Given the description of an element on the screen output the (x, y) to click on. 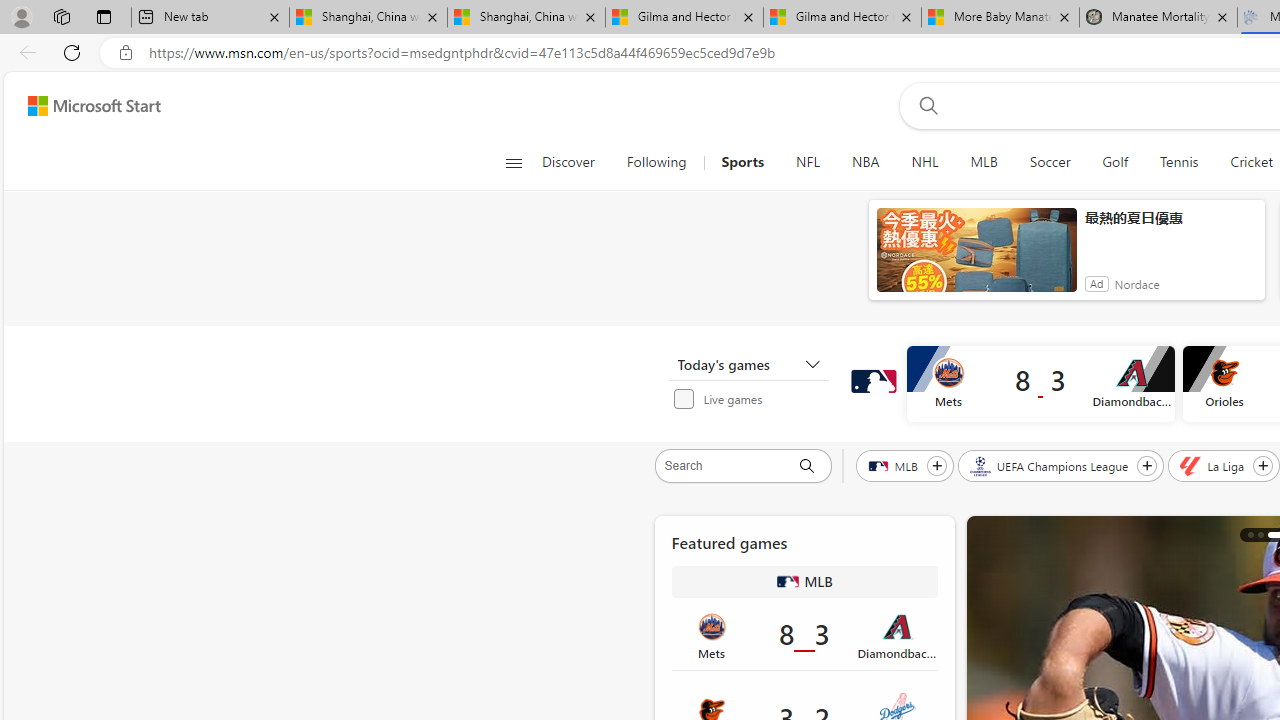
Open navigation menu (513, 162)
Discover (575, 162)
NHL (925, 162)
Golf (1115, 162)
MLB MLB (804, 581)
Sports (742, 162)
MLB (788, 582)
Shanghai, China weather forecast | Microsoft Weather (526, 17)
Golf (1115, 162)
MLB (894, 465)
Class: around-the-league-card (804, 635)
NBA (865, 162)
NFL (808, 162)
